Given the description of an element on the screen output the (x, y) to click on. 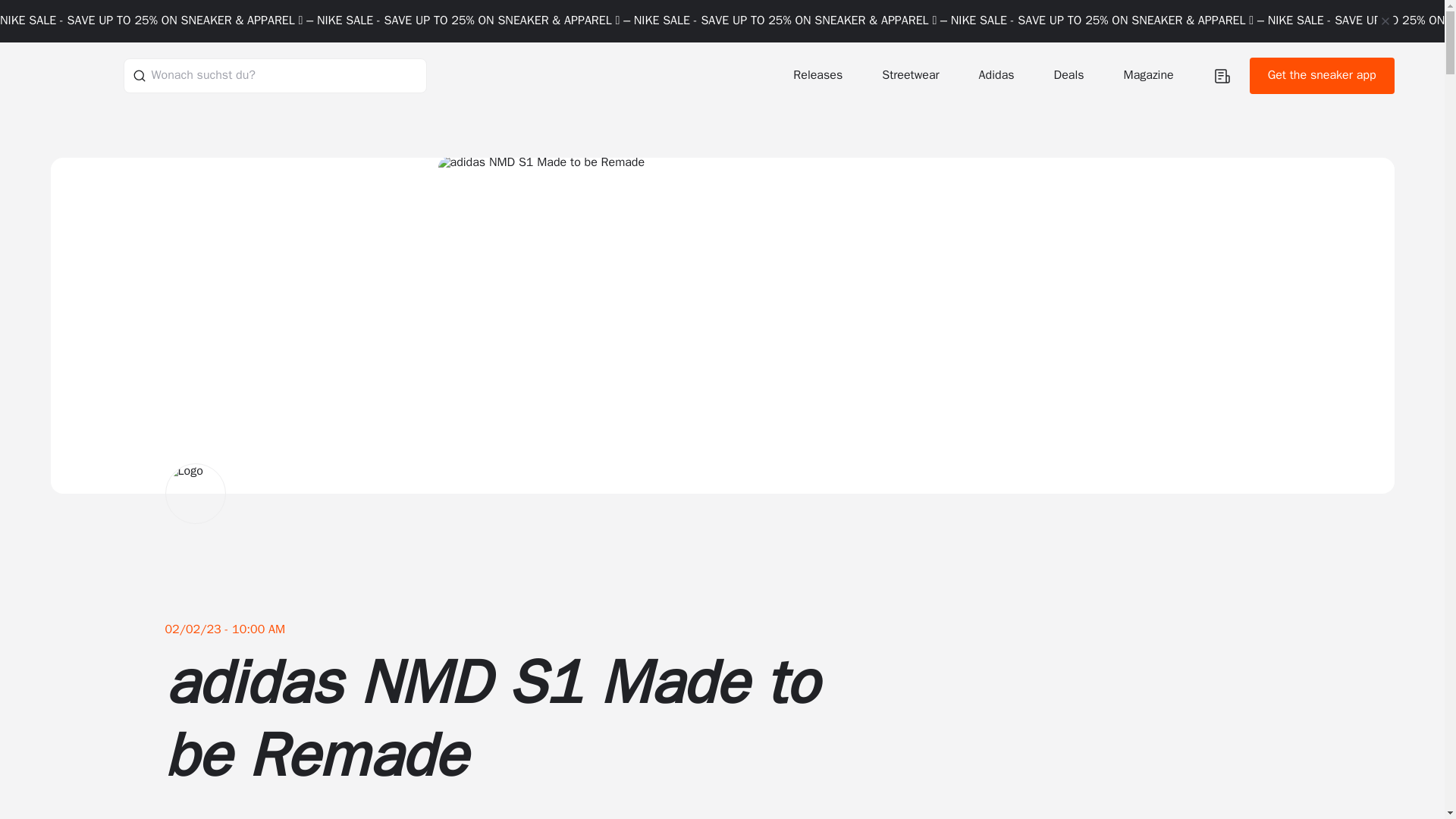
Magazine (1150, 74)
Wonach suchst du? (274, 75)
Get the sneaker app (1321, 75)
Releases (819, 74)
Deals (1070, 74)
Streetwear (912, 74)
Adidas (997, 74)
